Given the description of an element on the screen output the (x, y) to click on. 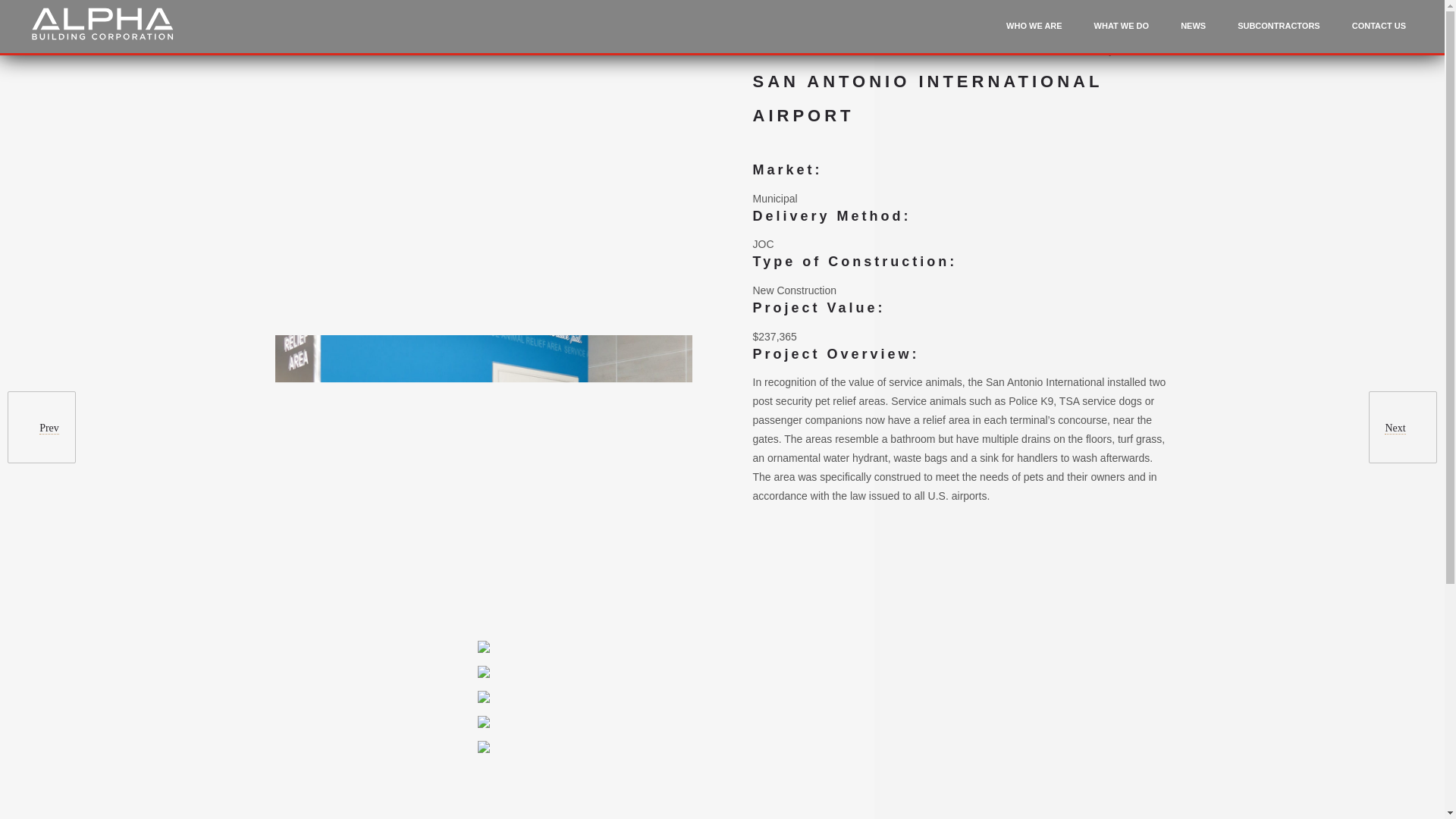
WHO WE ARE (1034, 31)
SUBCONTRACTORS (1278, 31)
NEWS (1192, 31)
WHAT WE DO (1122, 31)
CONTACT US (1379, 31)
